Given the description of an element on the screen output the (x, y) to click on. 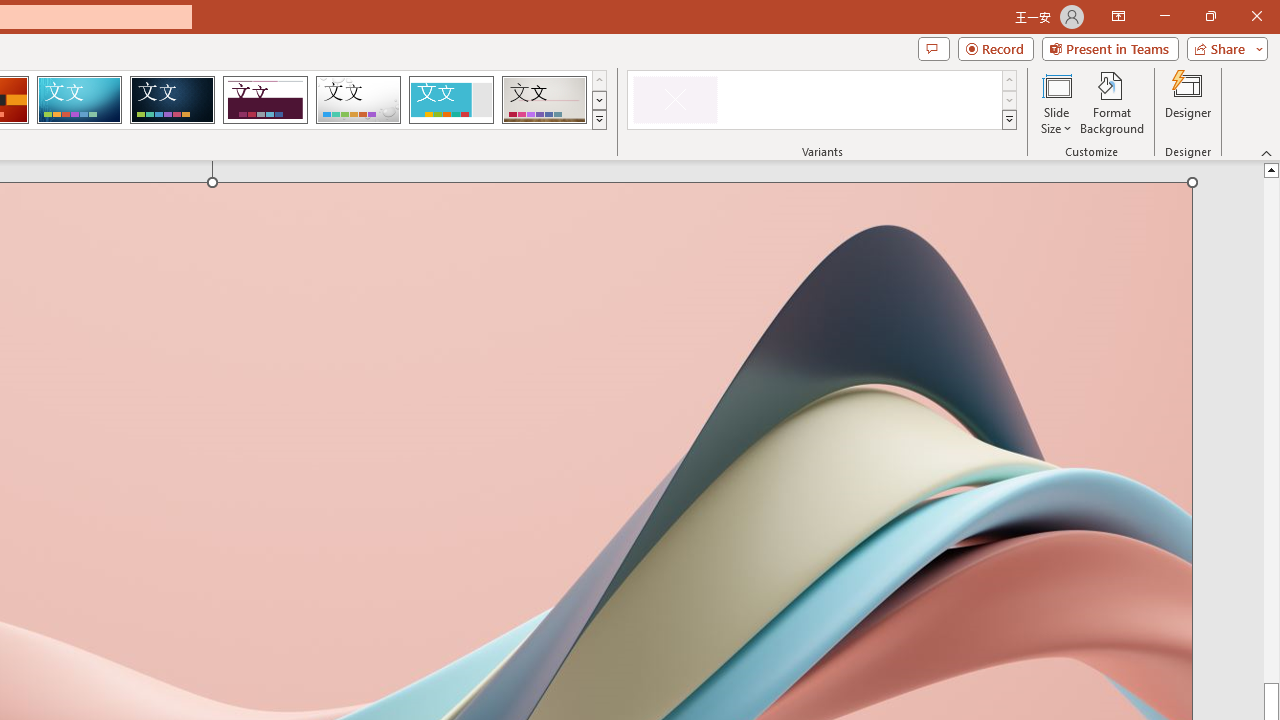
Frame (450, 100)
Variants (1009, 120)
Slide Size (1056, 102)
Dividend (265, 100)
Page up (1271, 421)
Gallery (544, 100)
AutomationID: ThemeVariantsGallery (822, 99)
Row up (1009, 79)
